Given the description of an element on the screen output the (x, y) to click on. 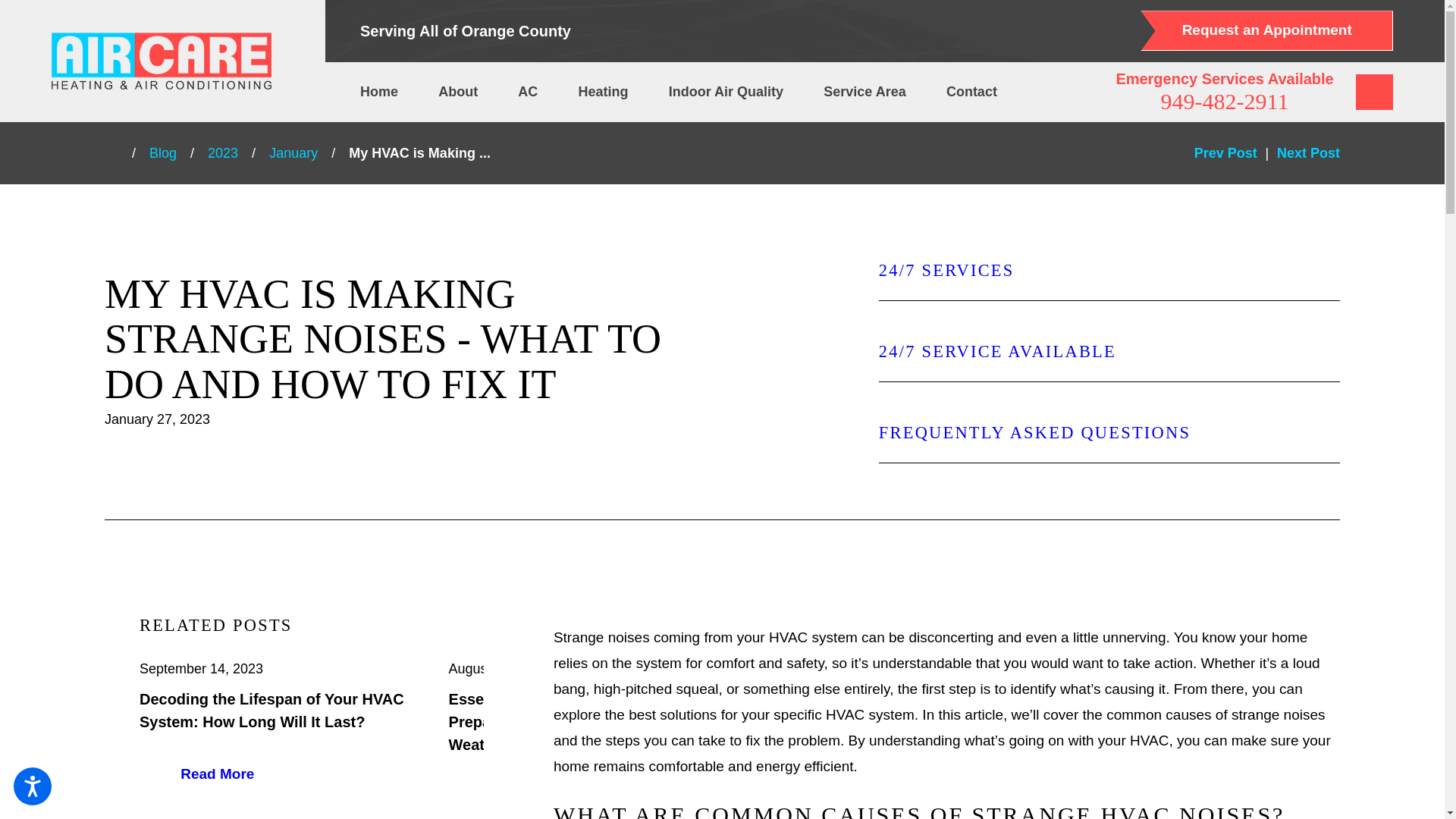
AC (527, 92)
Serving All of Orange County (464, 30)
Open the accessibility options menu (31, 786)
Request an Appointment (1266, 30)
About (457, 92)
Go Home (118, 152)
Search our site (1374, 92)
Heating (603, 92)
Home (386, 92)
